Given the description of an element on the screen output the (x, y) to click on. 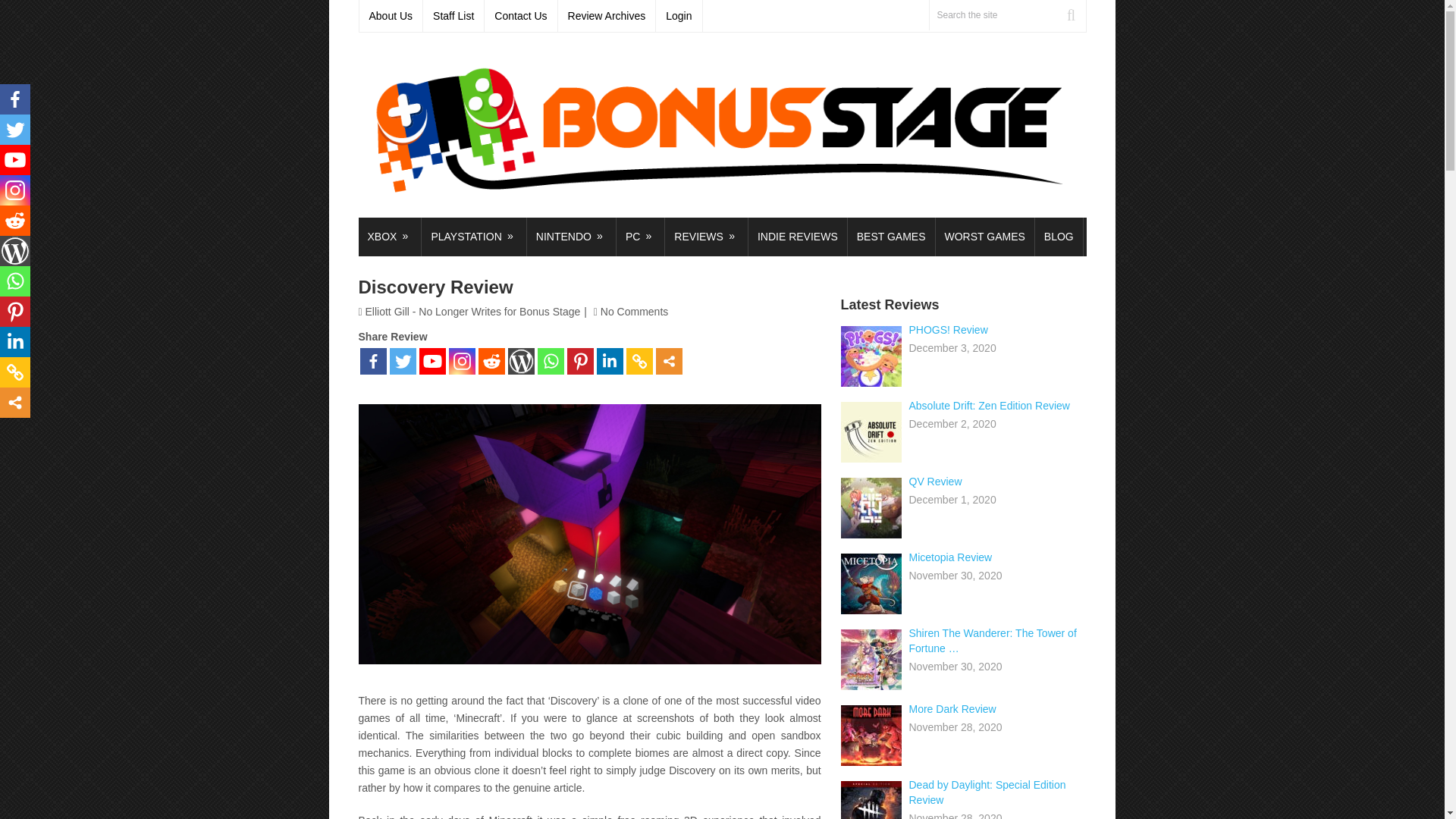
XBOX (389, 236)
PC (639, 236)
Staff List (453, 15)
About Us (391, 15)
PLAYSTATION (473, 236)
Review Archives (606, 15)
Login (678, 15)
Contact Us (520, 15)
REVIEWS (706, 236)
NINTENDO (571, 236)
